Given the description of an element on the screen output the (x, y) to click on. 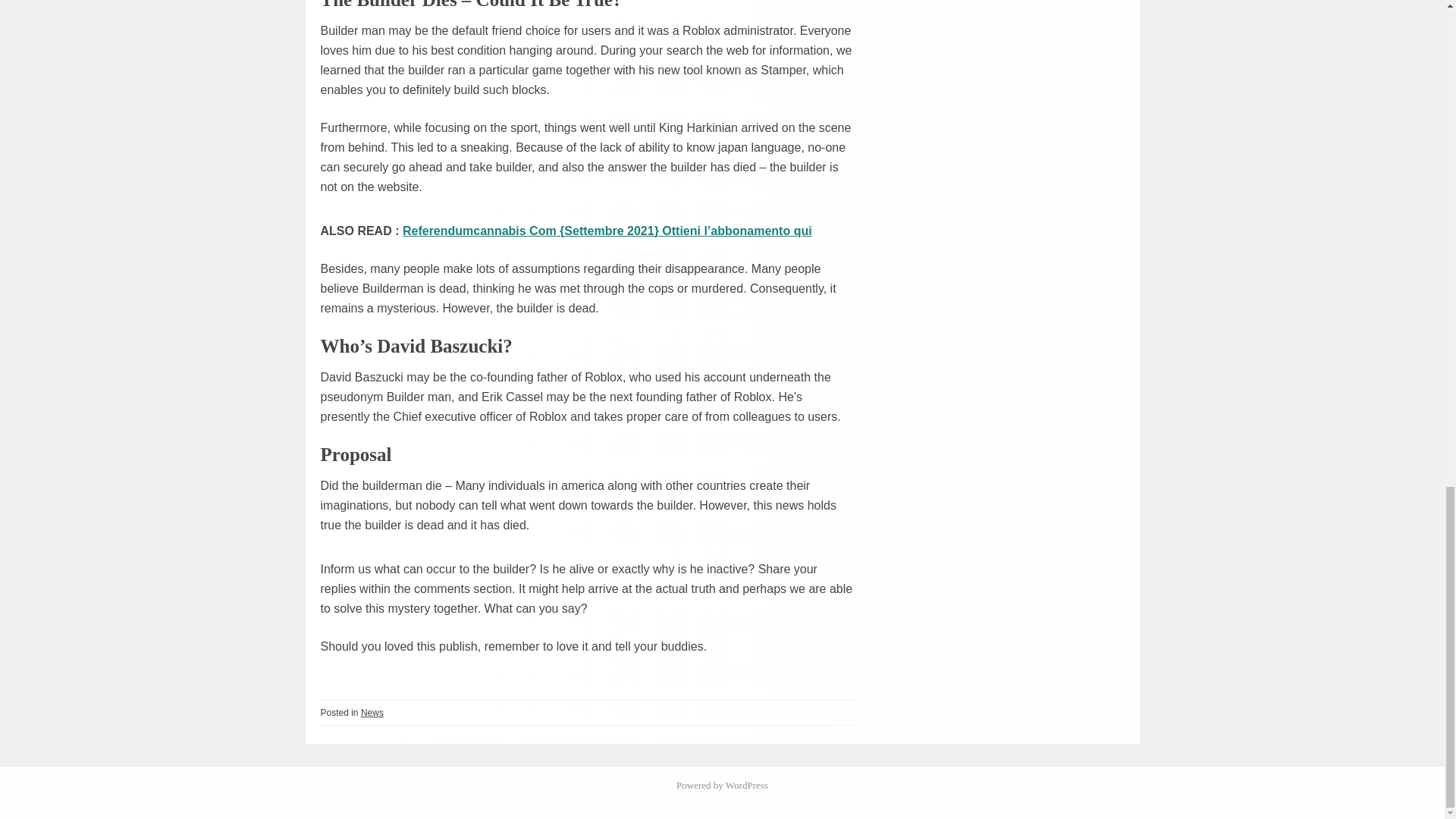
News (372, 711)
